Given the description of an element on the screen output the (x, y) to click on. 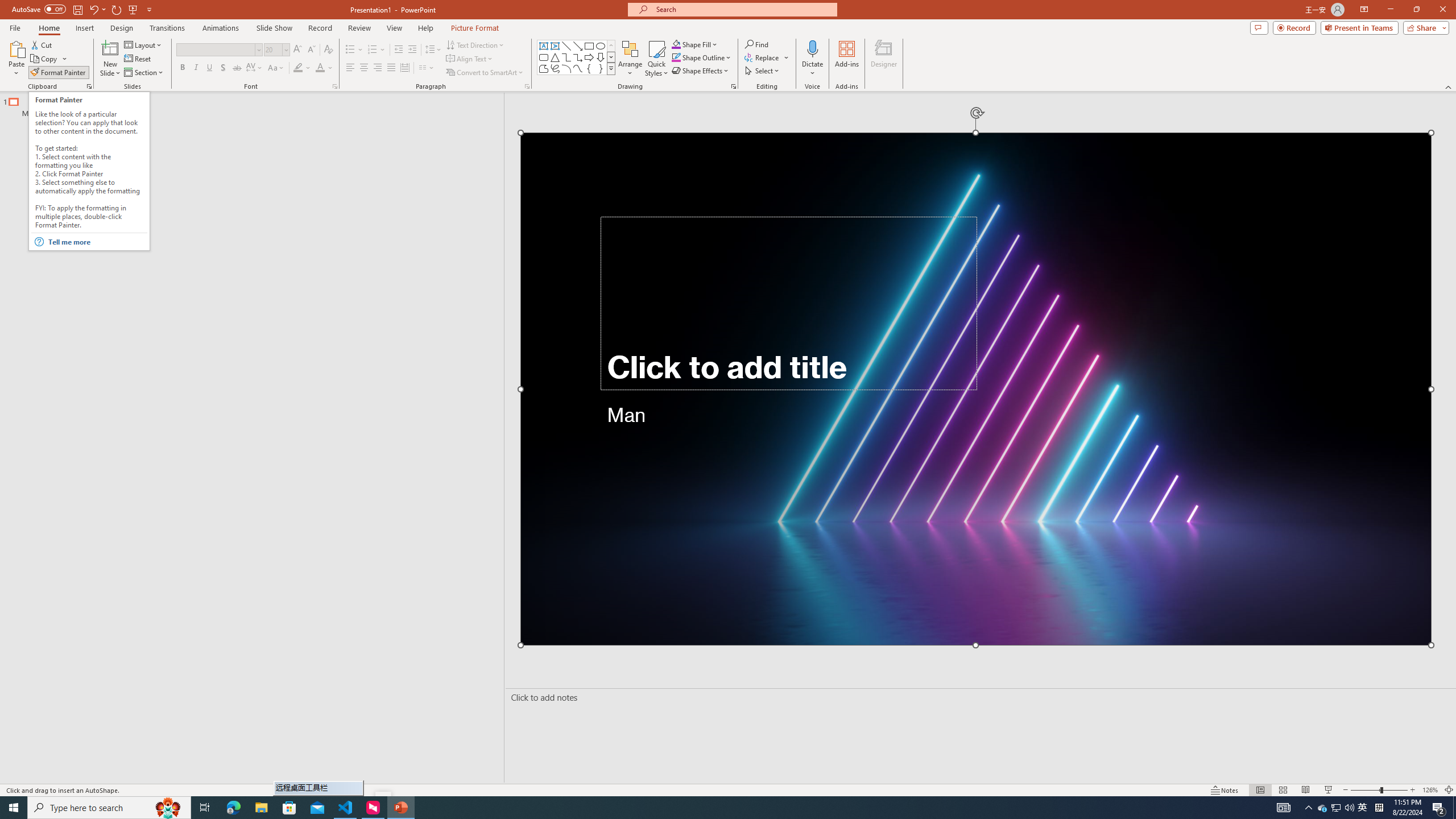
Change Case (276, 67)
Format Painter (58, 72)
Arrow: Right (589, 57)
Strikethrough (237, 67)
Columns (426, 67)
Vertical Text Box (554, 45)
Tell me more (96, 241)
Isosceles Triangle (554, 57)
Text Highlight Color Yellow (297, 67)
